Given the description of an element on the screen output the (x, y) to click on. 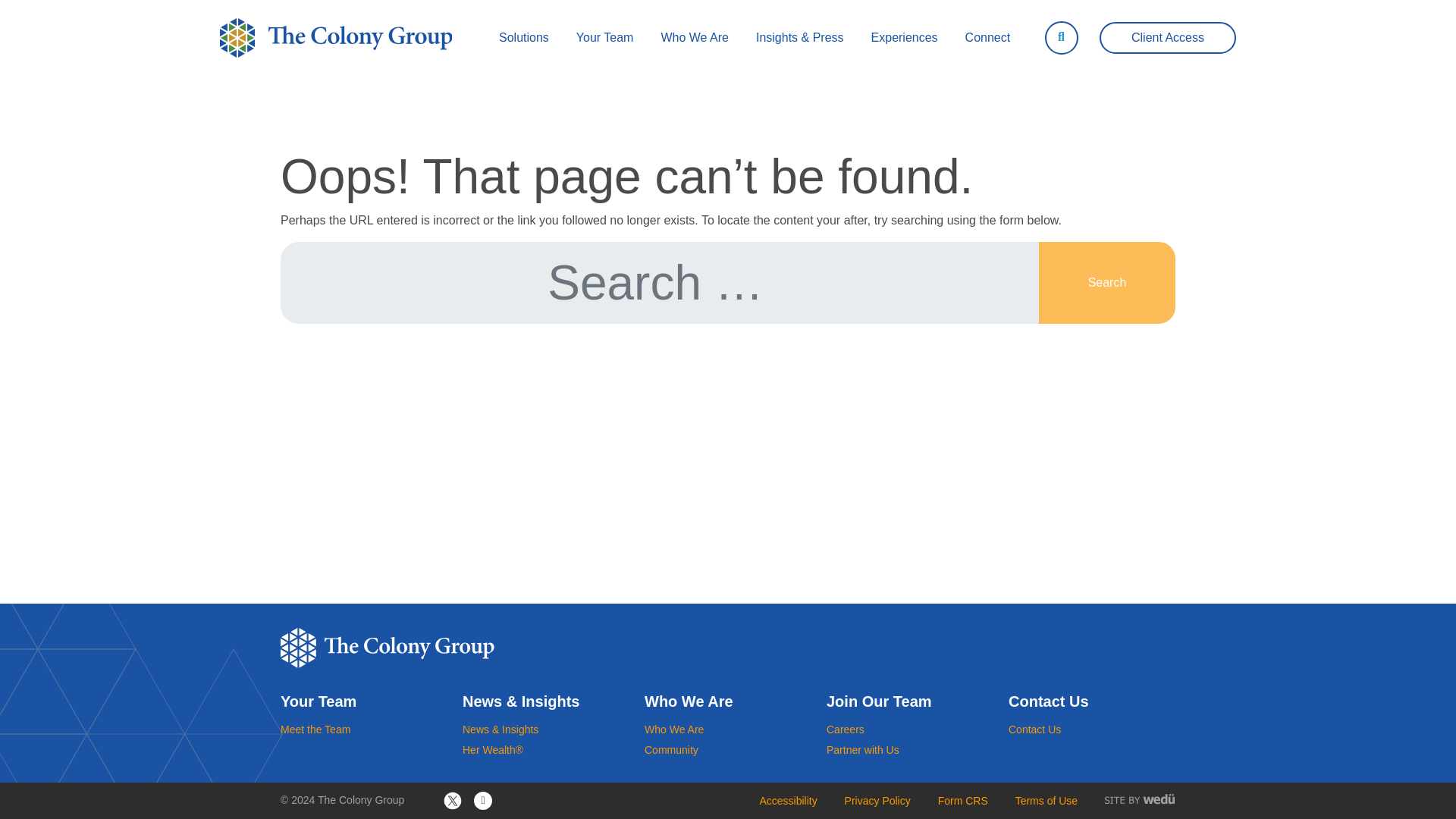
Who We Are (694, 38)
Client Access (1167, 38)
Experiences (904, 38)
Solutions (523, 38)
Your Team (604, 38)
Search (1106, 282)
Search (1106, 282)
Connect (988, 38)
